Given the description of an element on the screen output the (x, y) to click on. 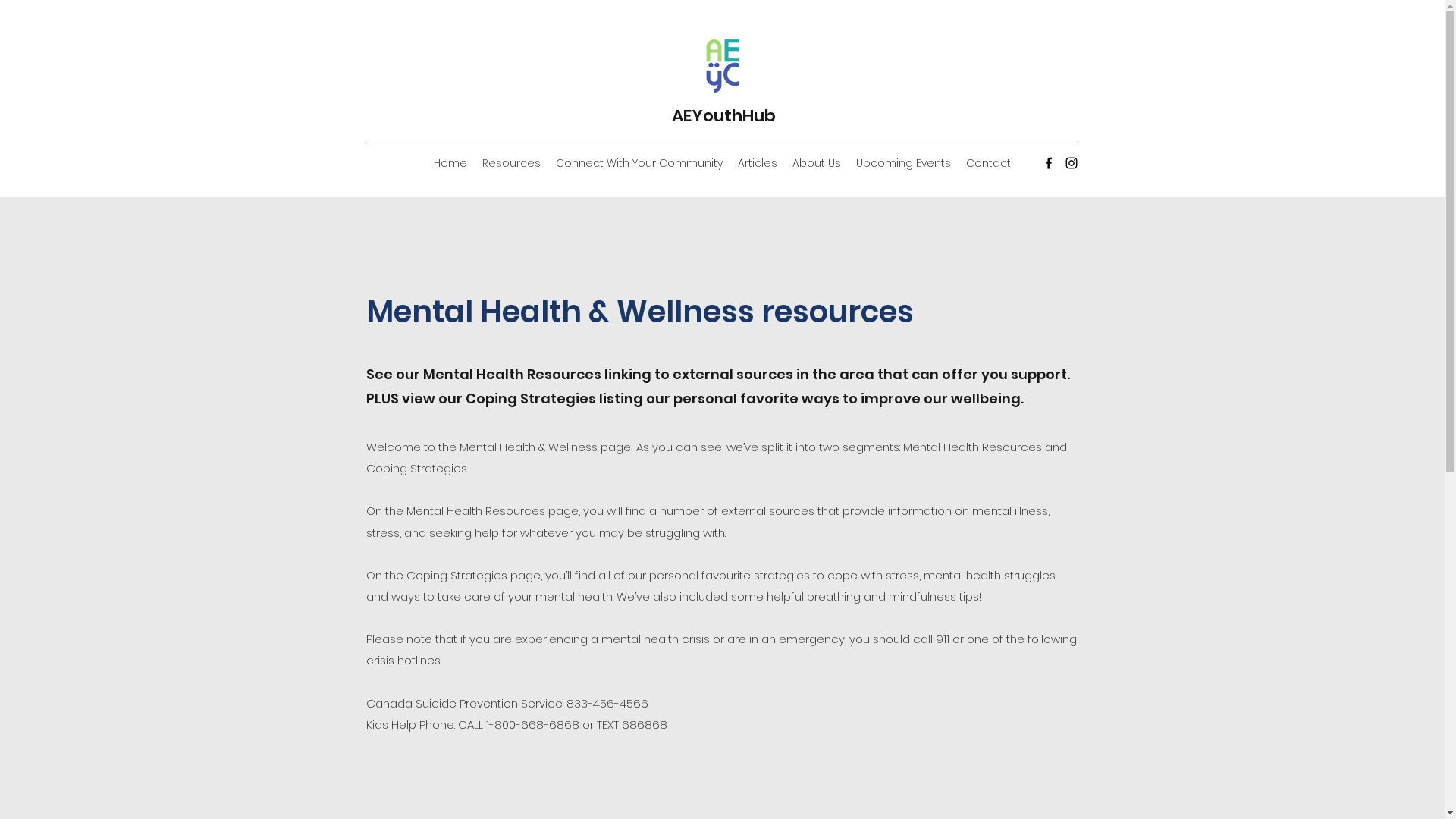
Connect With Your Community Element type: text (639, 162)
Contact Element type: text (988, 162)
AEYouthHub Element type: text (723, 115)
Upcoming Events Element type: text (903, 162)
About Us Element type: text (816, 162)
Home Element type: text (450, 162)
Articles Element type: text (757, 162)
Resources Element type: text (511, 162)
